Given the description of an element on the screen output the (x, y) to click on. 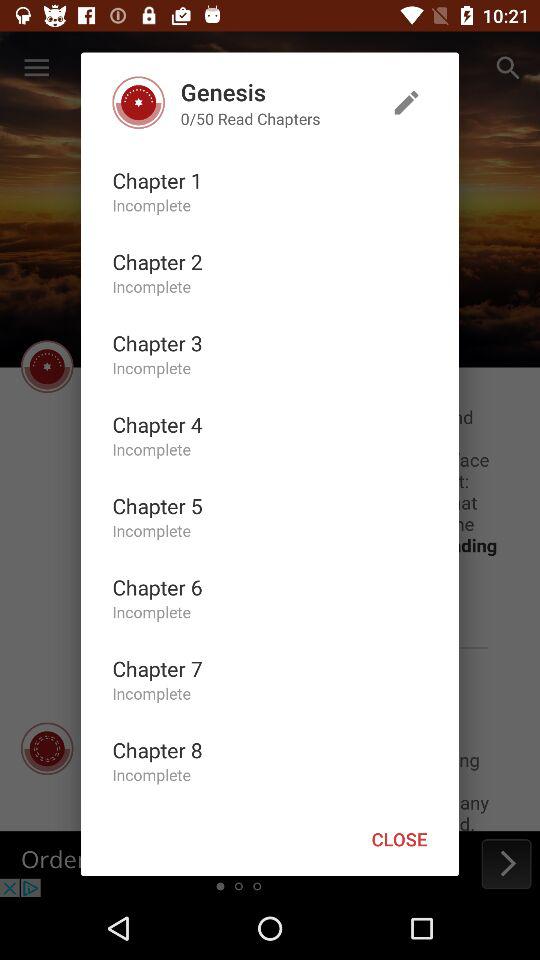
tap the icon below the 0 50 read item (157, 180)
